Given the description of an element on the screen output the (x, y) to click on. 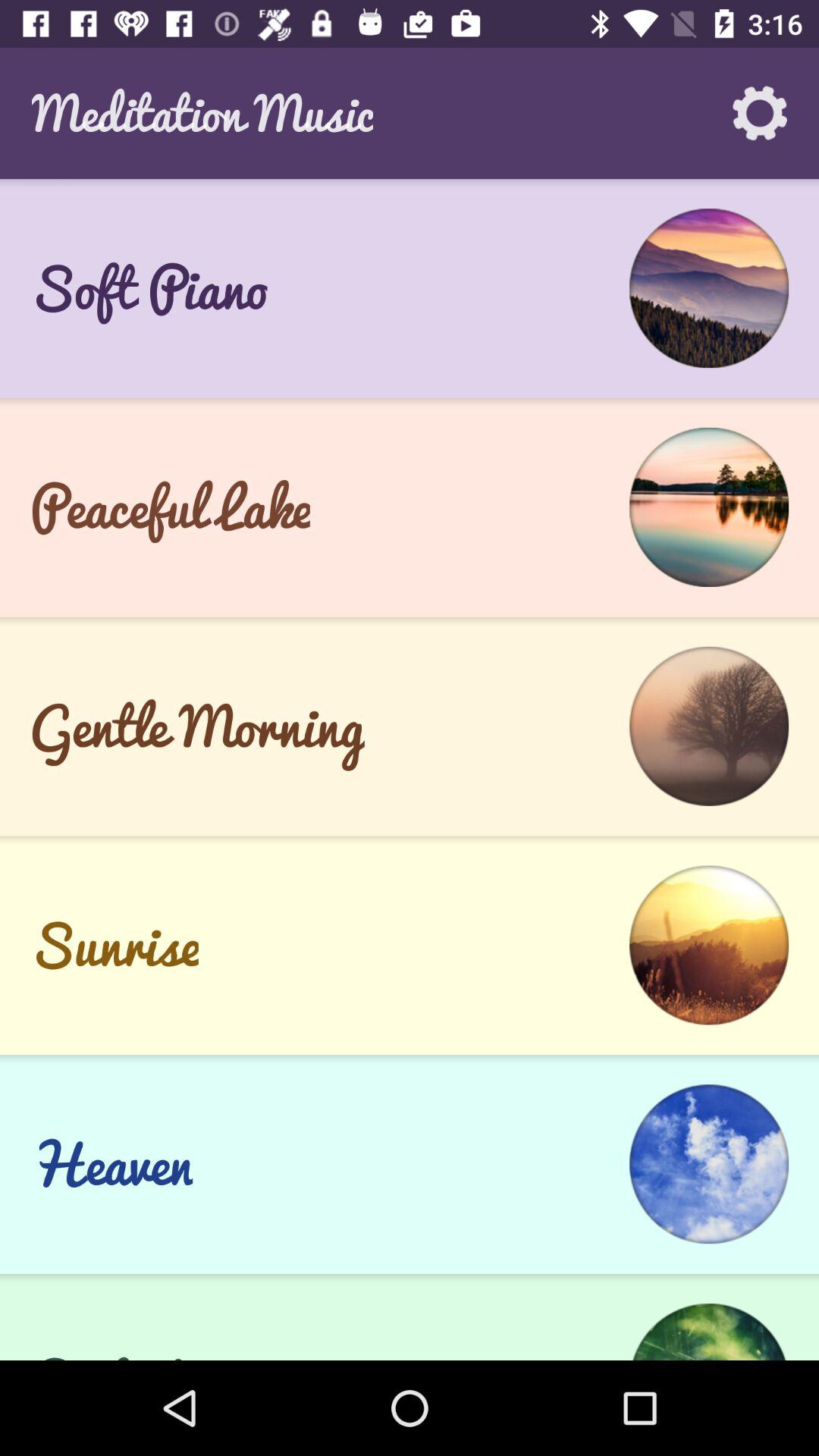
tap the sunrise (114, 945)
